Given the description of an element on the screen output the (x, y) to click on. 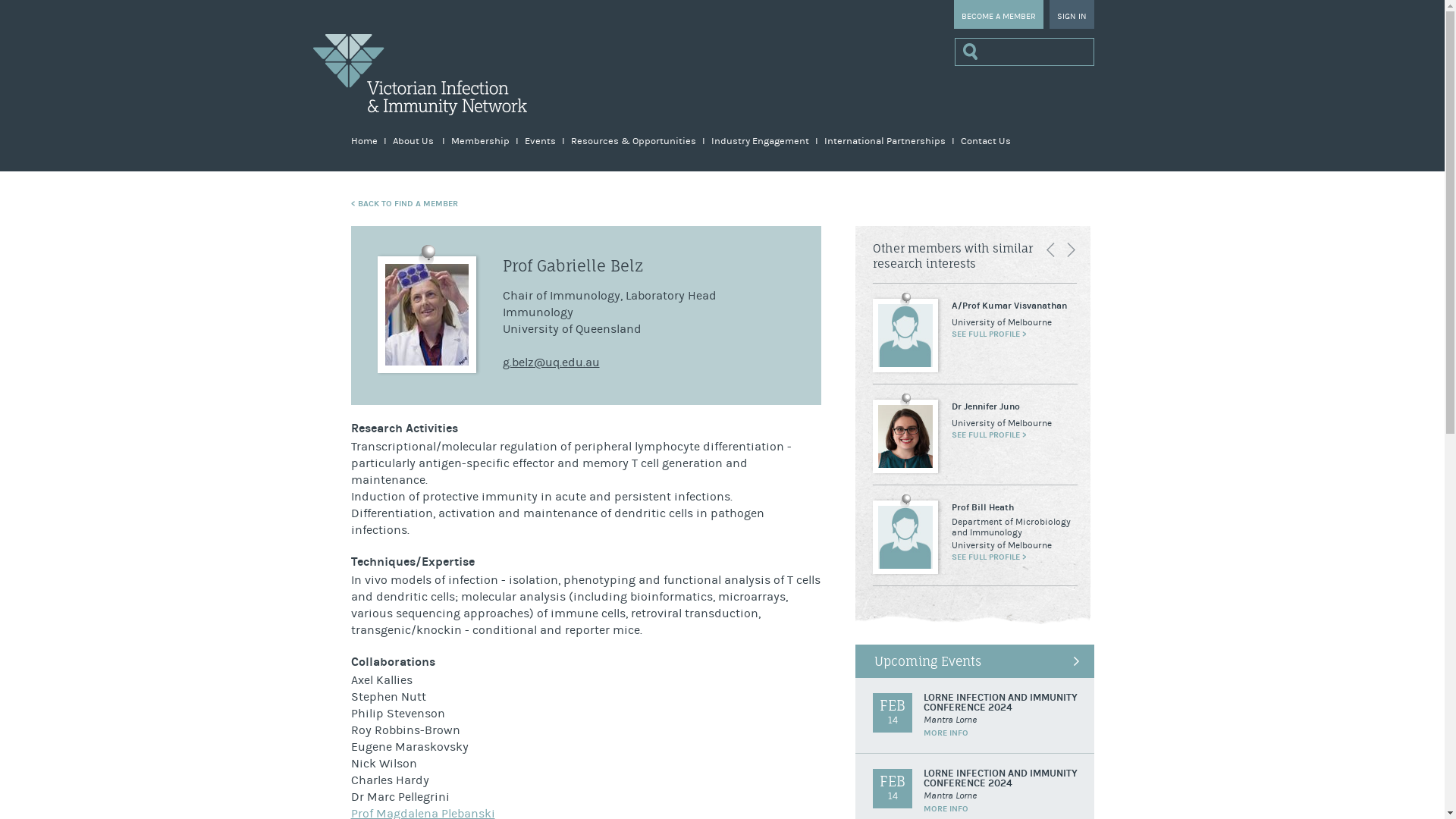
SEE FULL PROFILE > Element type: text (988, 333)
MORE INFO Element type: text (945, 732)
MORE INFO Element type: text (945, 808)
< BACK TO FIND A MEMBER Element type: text (403, 203)
Upcoming Events Element type: text (974, 660)
International Partnerships Element type: text (888, 140)
Contact Us Element type: text (985, 140)
Home Element type: text (367, 140)
BECOME A MEMBER Element type: text (998, 14)
SEE FULL PROFILE > Element type: text (988, 556)
Industry Engagement Element type: text (764, 140)
About Us Element type: text (418, 140)
g.belz@uq.edu.au Element type: text (550, 362)
Resources & Opportunities Element type: text (637, 140)
Events Element type: text (544, 140)
SIGN IN Element type: text (1071, 14)
SEE FULL PROFILE > Element type: text (988, 434)
Membership Element type: text (483, 140)
